Given the description of an element on the screen output the (x, y) to click on. 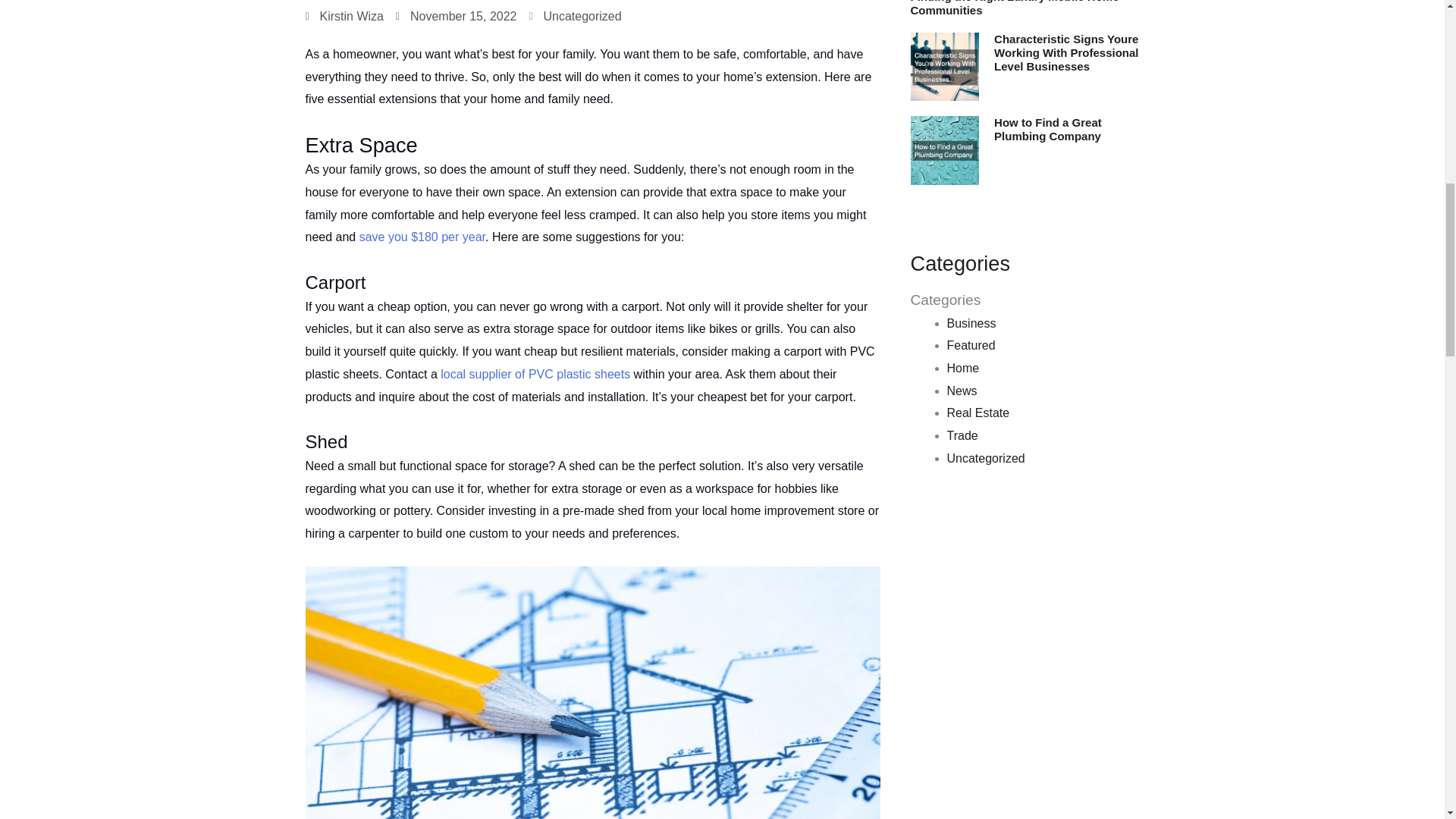
Featured (970, 345)
November 15, 2022 (456, 15)
Home (962, 367)
News (961, 390)
Trade (961, 435)
Uncategorized (582, 15)
Kirstin Wiza (343, 15)
Finding the Right Luxury Mobile Home Communities (1014, 8)
